Given the description of an element on the screen output the (x, y) to click on. 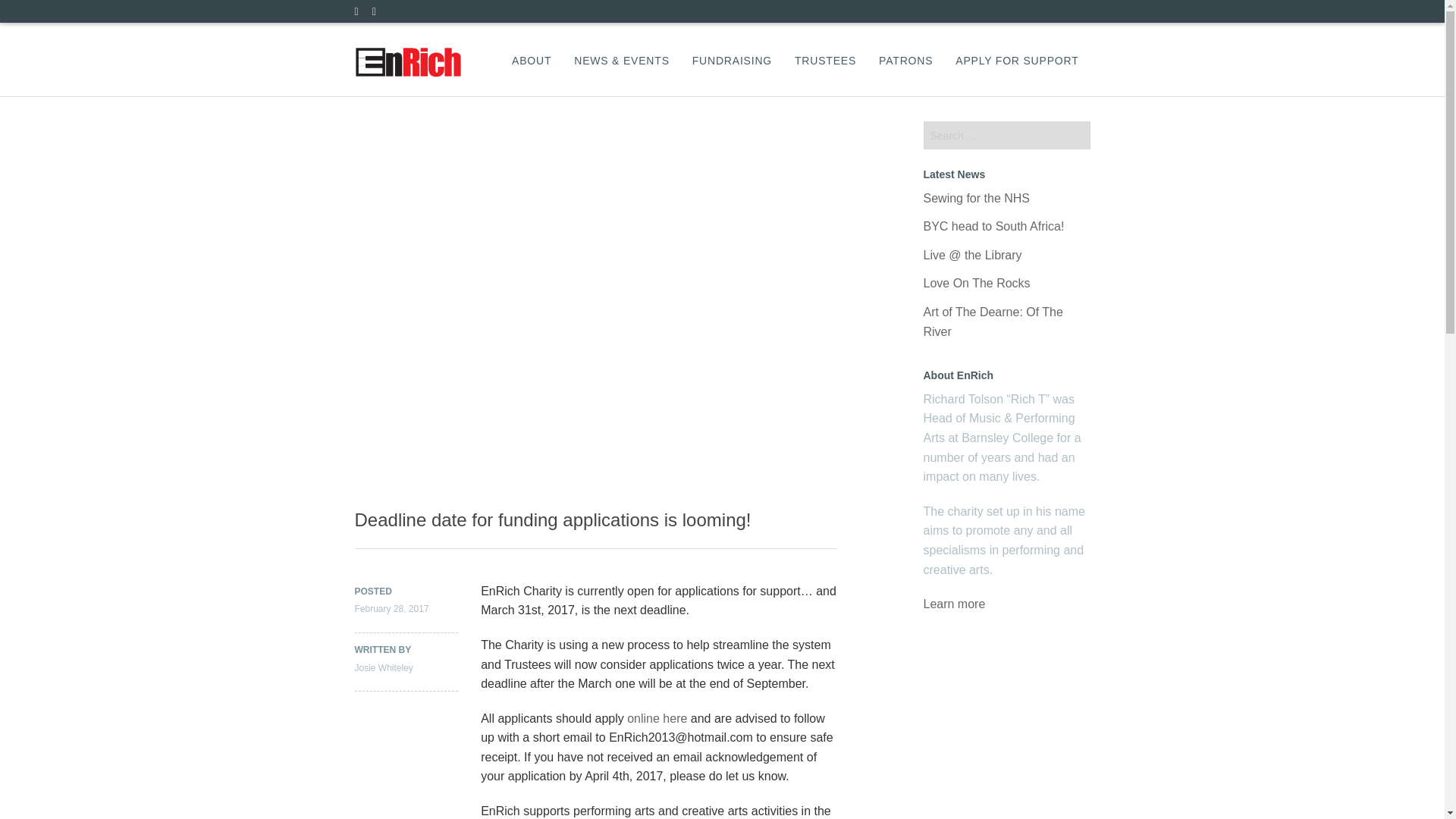
BYC head to South Africa! (993, 226)
Love On The Rocks (976, 282)
ABOUT (531, 60)
Search (31, 9)
Sewing for the NHS (976, 197)
online here (658, 717)
PATRONS (906, 60)
APPLY FOR SUPPORT (1016, 60)
Facebook (381, 12)
TRUSTEES (825, 60)
